Given the description of an element on the screen output the (x, y) to click on. 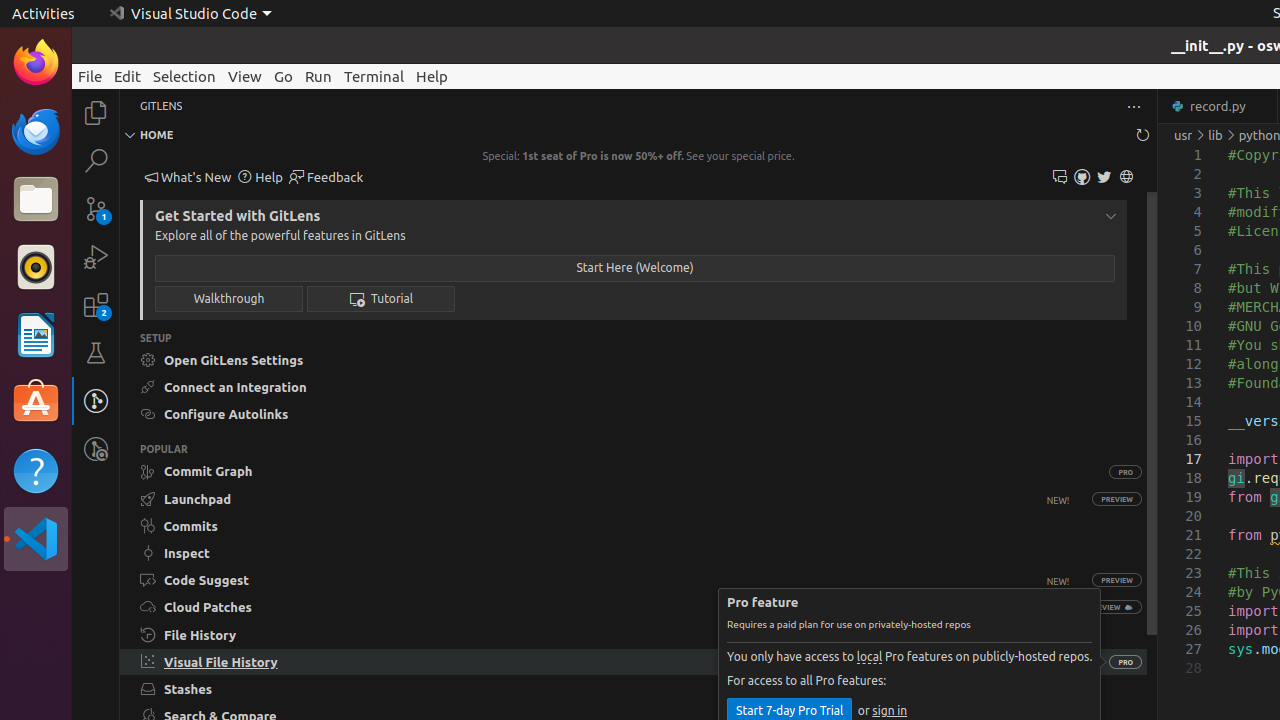
Help Center Element type: link (260, 177)
Open Code Suggest walkthrough Element type: link (605, 580)
Show Commits view Element type: link (633, 525)
